Given the description of an element on the screen output the (x, y) to click on. 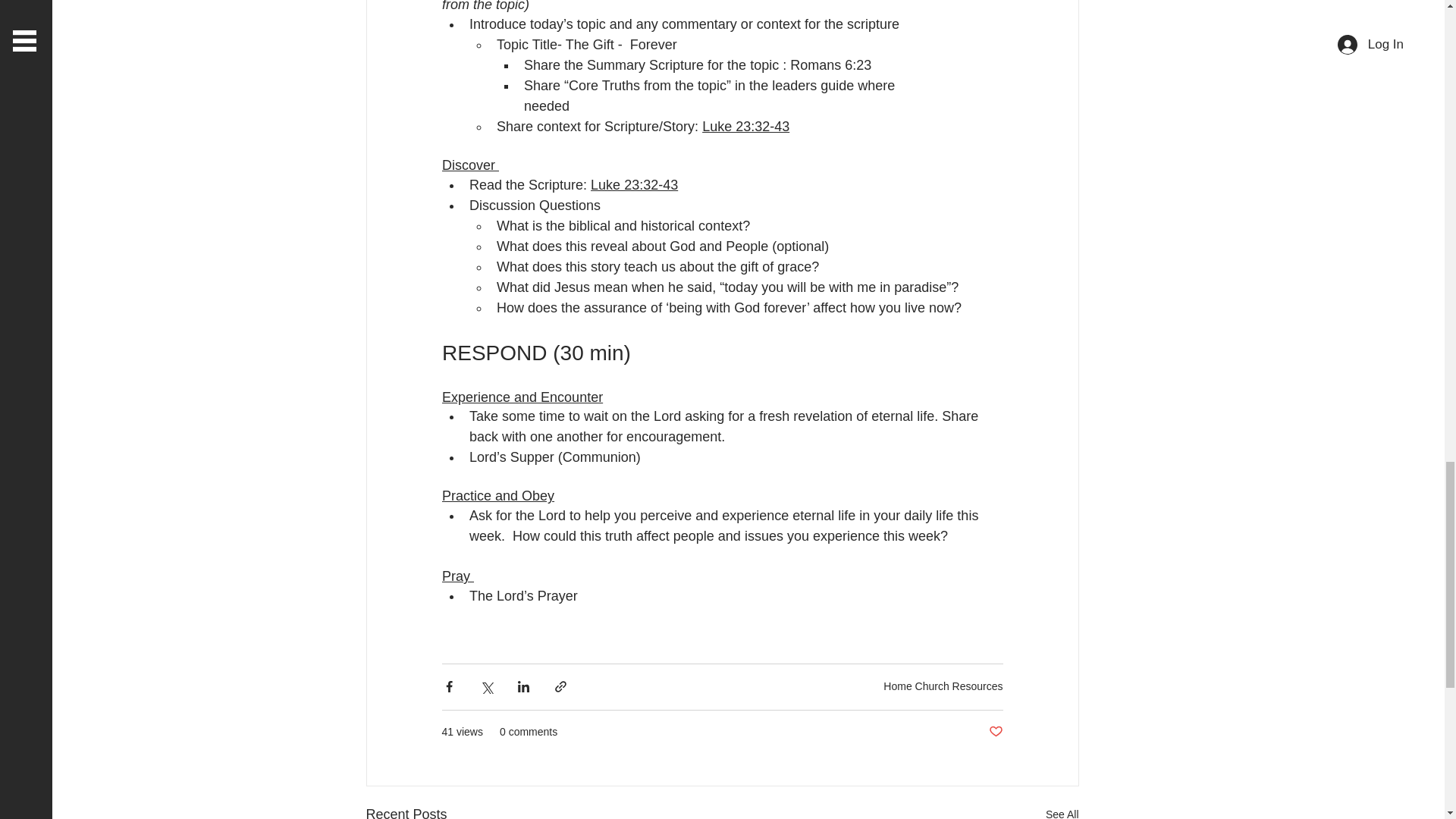
See All (1061, 811)
Post not marked as liked (995, 731)
Home Church Resources (943, 686)
